Given the description of an element on the screen output the (x, y) to click on. 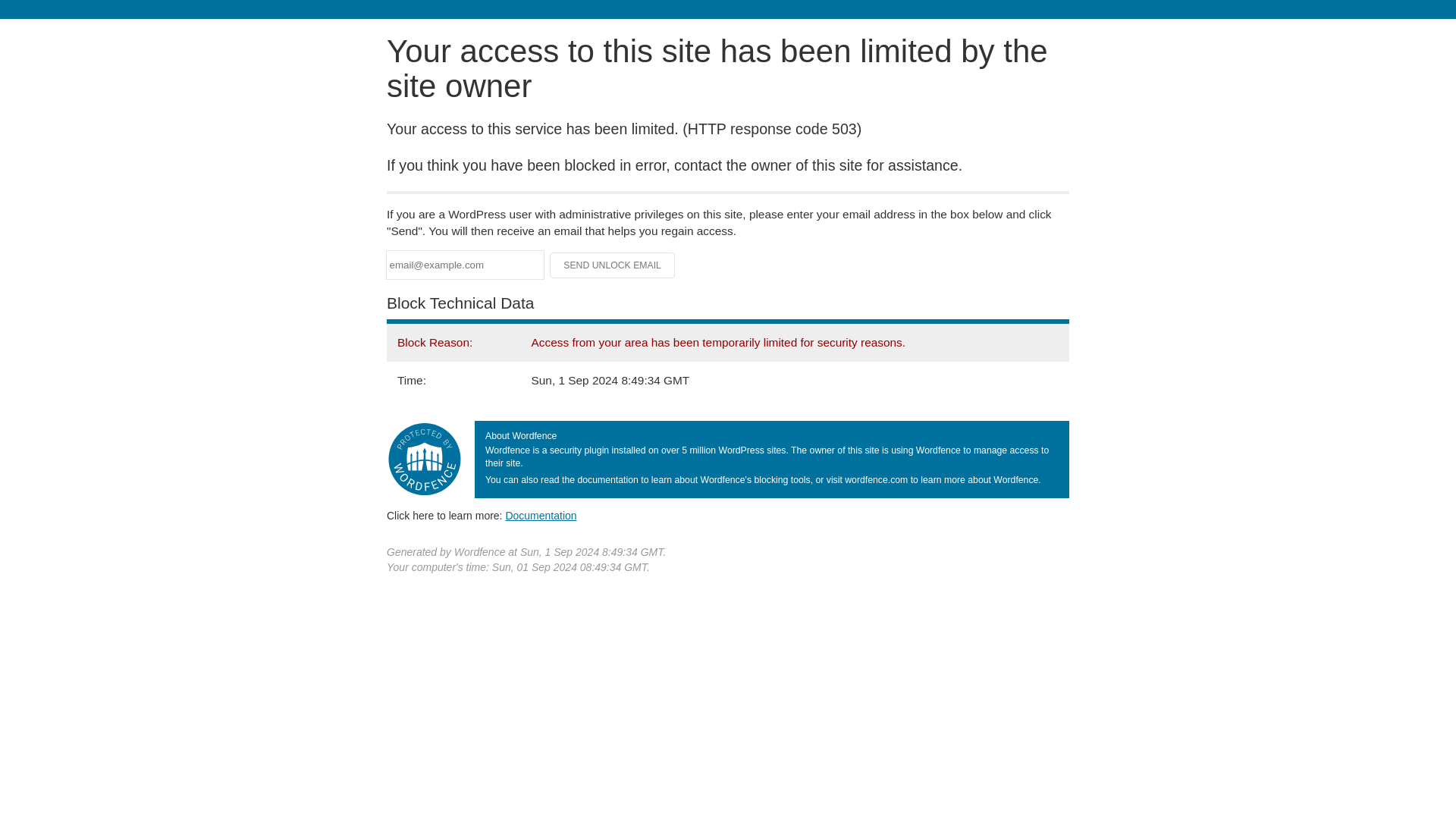
Send Unlock Email (612, 265)
Documentation (540, 515)
Send Unlock Email (612, 265)
